Given the description of an element on the screen output the (x, y) to click on. 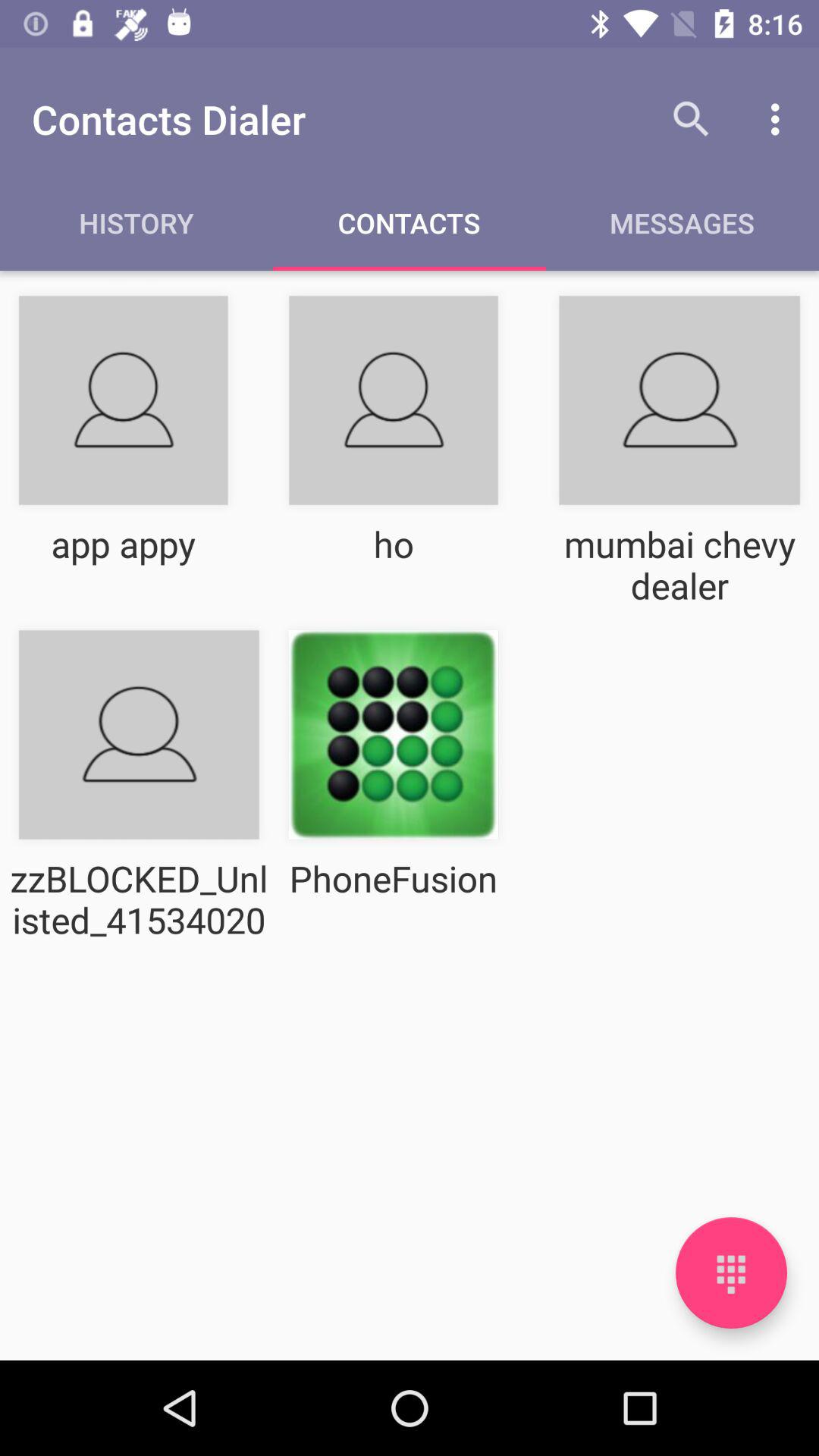
click the icon to the right of contacts dialer item (691, 119)
